Given the description of an element on the screen output the (x, y) to click on. 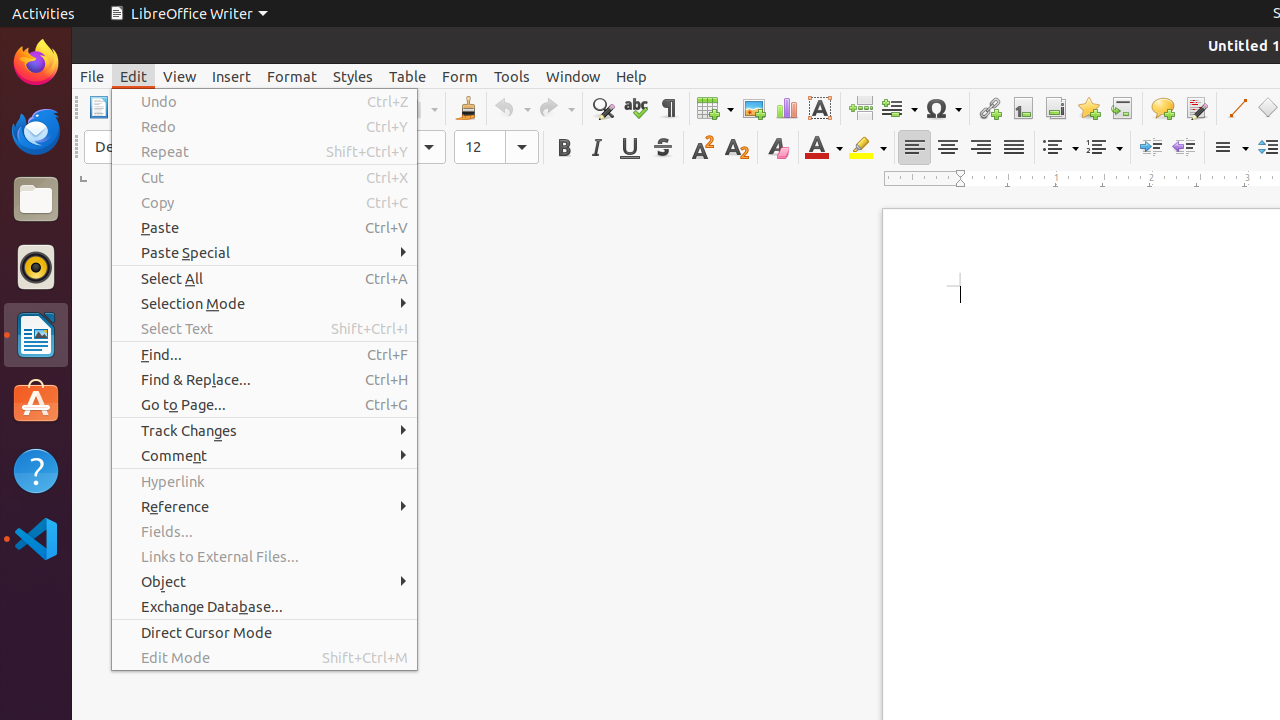
File Element type: menu (92, 76)
Subscript Element type: toggle-button (736, 147)
Undo Element type: menu-item (264, 101)
Form Element type: menu (460, 76)
Edit Element type: menu (133, 76)
